Given the description of an element on the screen output the (x, y) to click on. 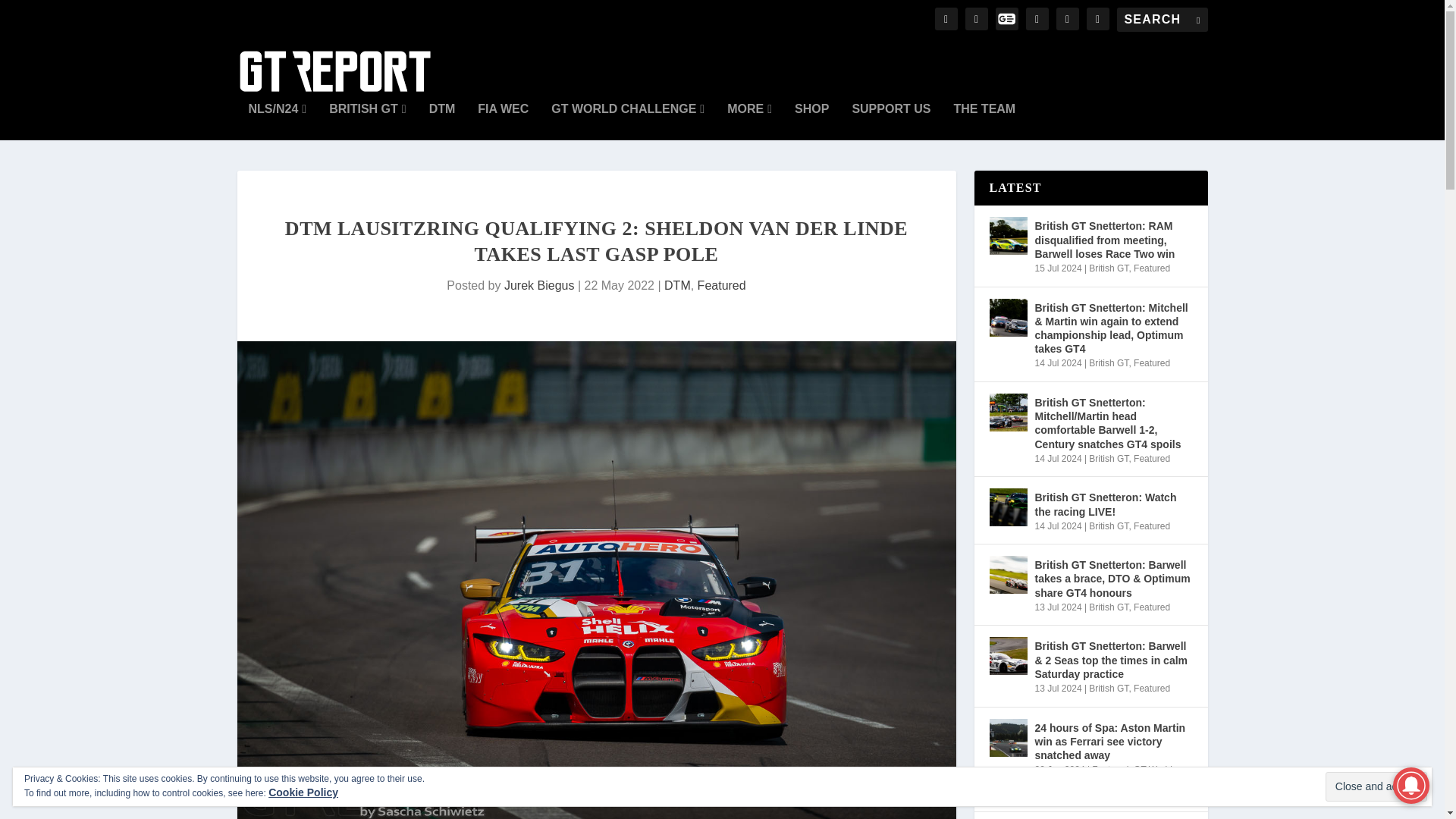
Search for: (1161, 19)
BRITISH GT (367, 121)
SHOP (811, 121)
Close and accept (1375, 786)
MORE (748, 121)
FIA WEC (502, 121)
GT WORLD CHALLENGE (627, 121)
SUPPORT US (890, 121)
Posts by Jurek Biegus (539, 285)
